Given the description of an element on the screen output the (x, y) to click on. 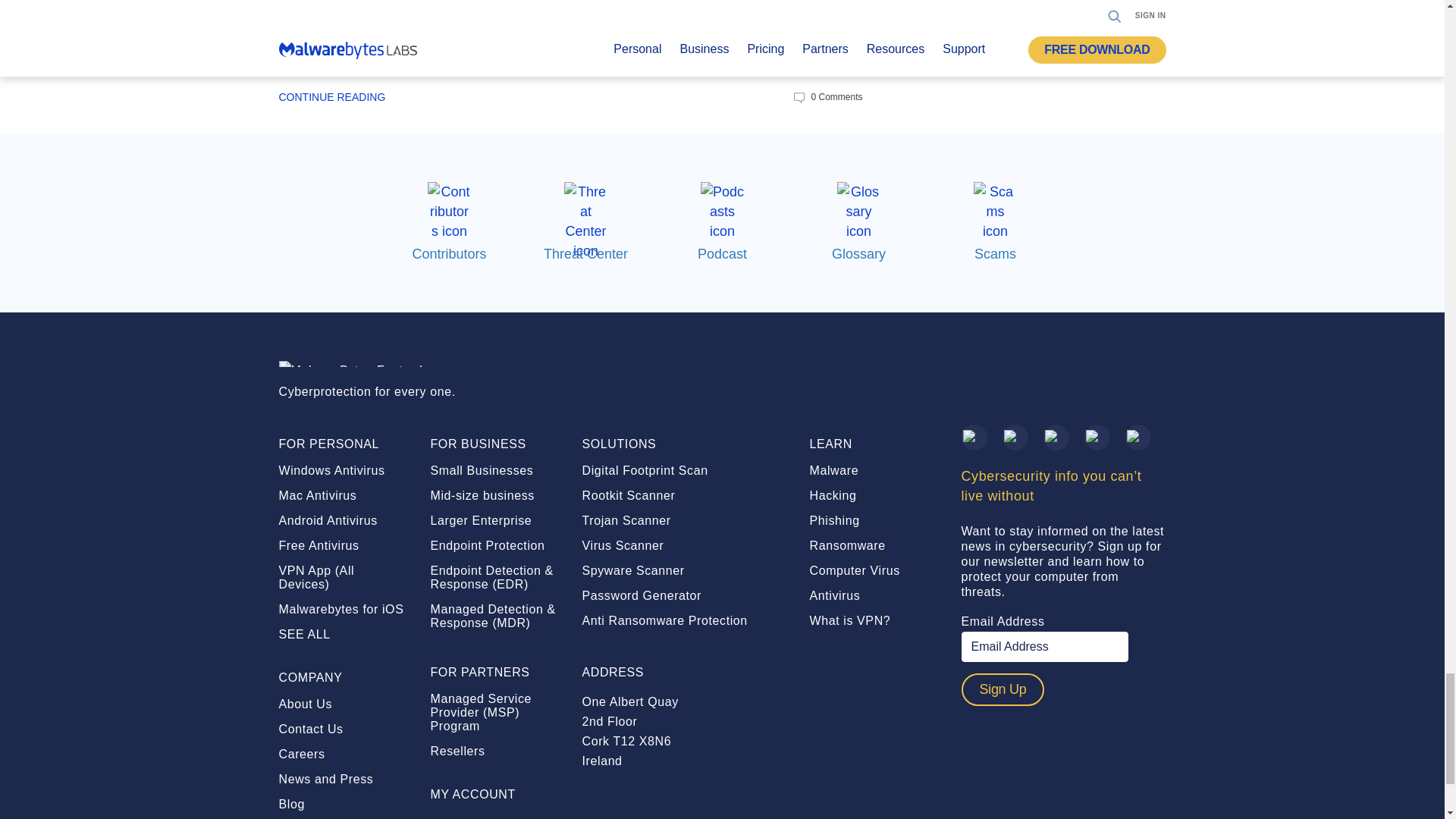
Sign Up (1002, 689)
